Given the description of an element on the screen output the (x, y) to click on. 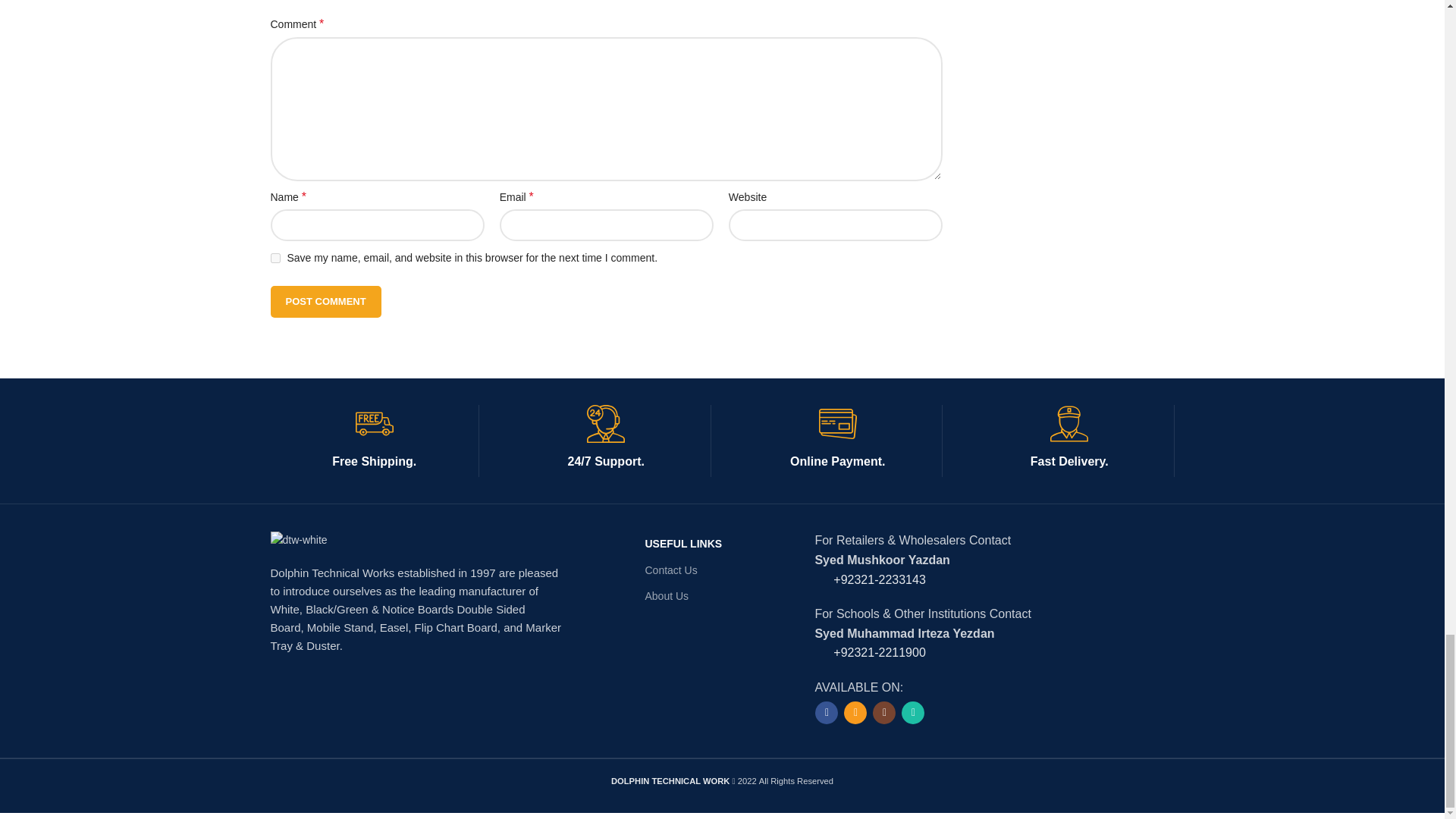
yes (274, 257)
dtw-white (297, 539)
Post Comment (324, 301)
